Given the description of an element on the screen output the (x, y) to click on. 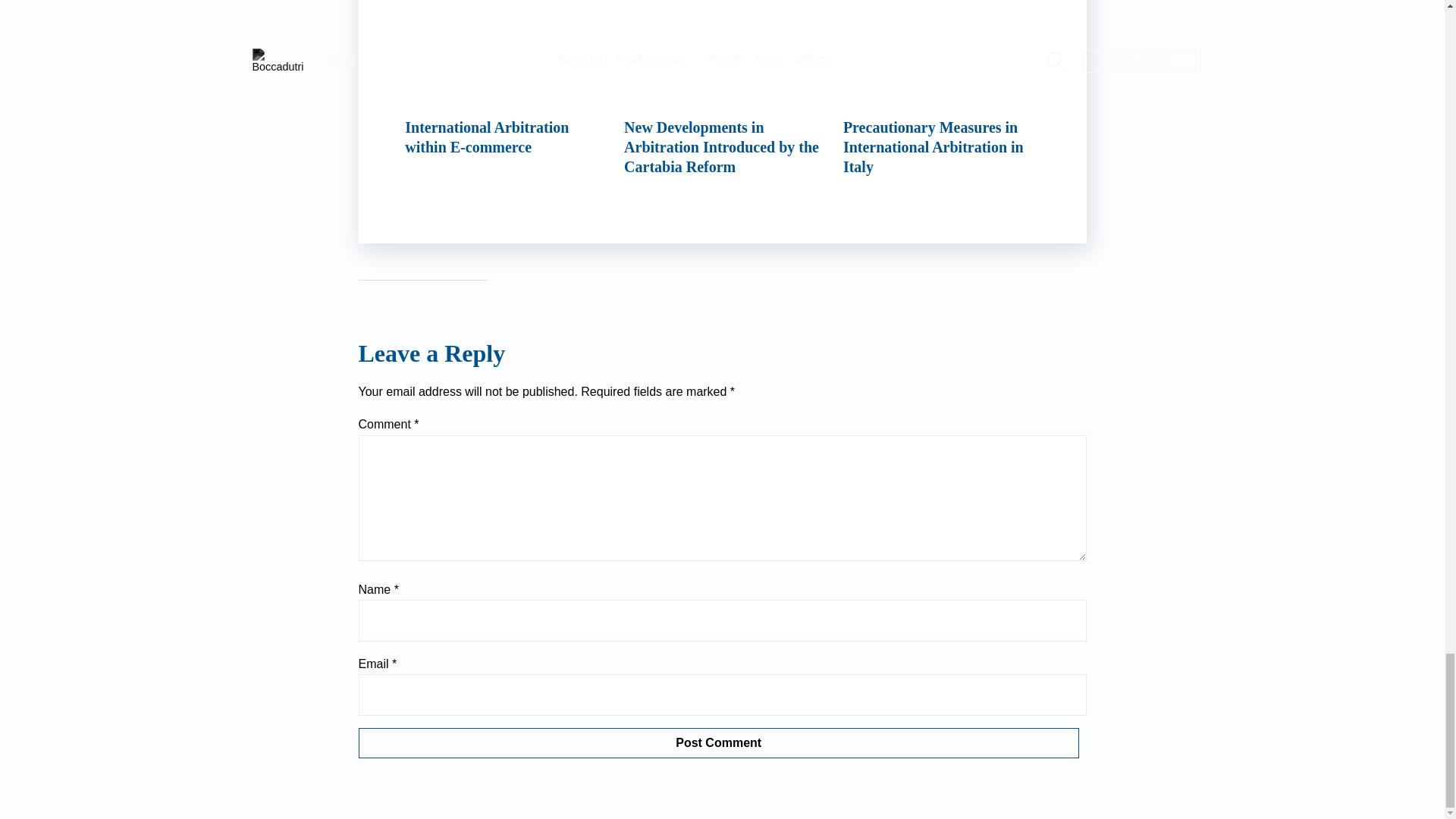
International Arbitration within E-commerce 2 (503, 53)
International Arbitration within E-commerce (503, 78)
Precautionary Measures in International Arbitration in Italy (941, 88)
Post Comment (718, 743)
